Given the description of an element on the screen output the (x, y) to click on. 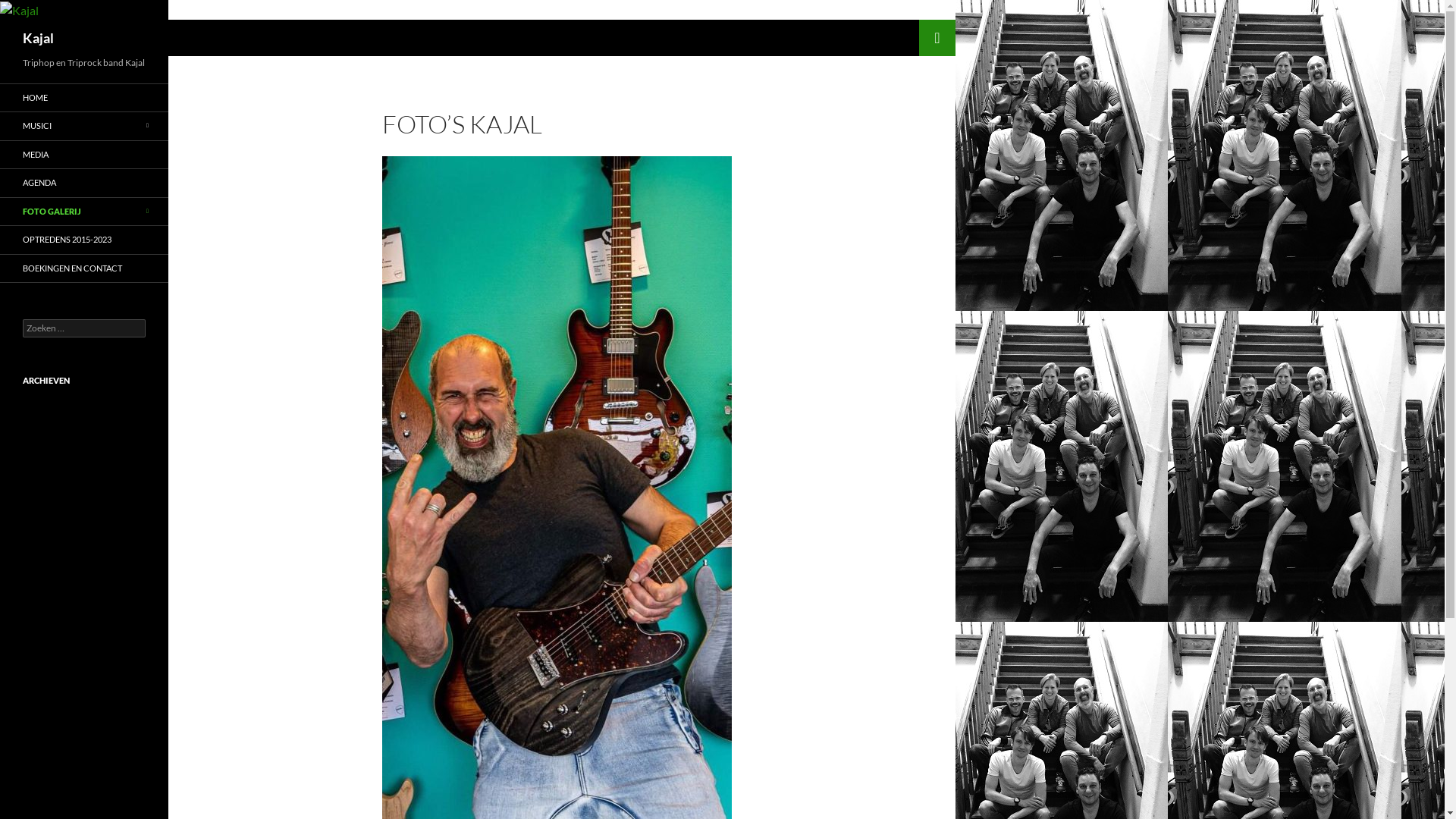
MUSICI Element type: text (84, 126)
MEDIA Element type: text (84, 155)
FOTO GALERIJ Element type: text (84, 211)
Zoeken Element type: text (3, 19)
Zoeken Element type: text (29, 9)
SPRING NAAR INHOUD Element type: text (927, 19)
BOEKINGEN EN CONTACT Element type: text (84, 268)
Kajal Element type: text (37, 37)
AGENDA Element type: text (84, 183)
HOME Element type: text (84, 98)
OPTREDENS 2015-2023 Element type: text (84, 239)
